Given the description of an element on the screen output the (x, y) to click on. 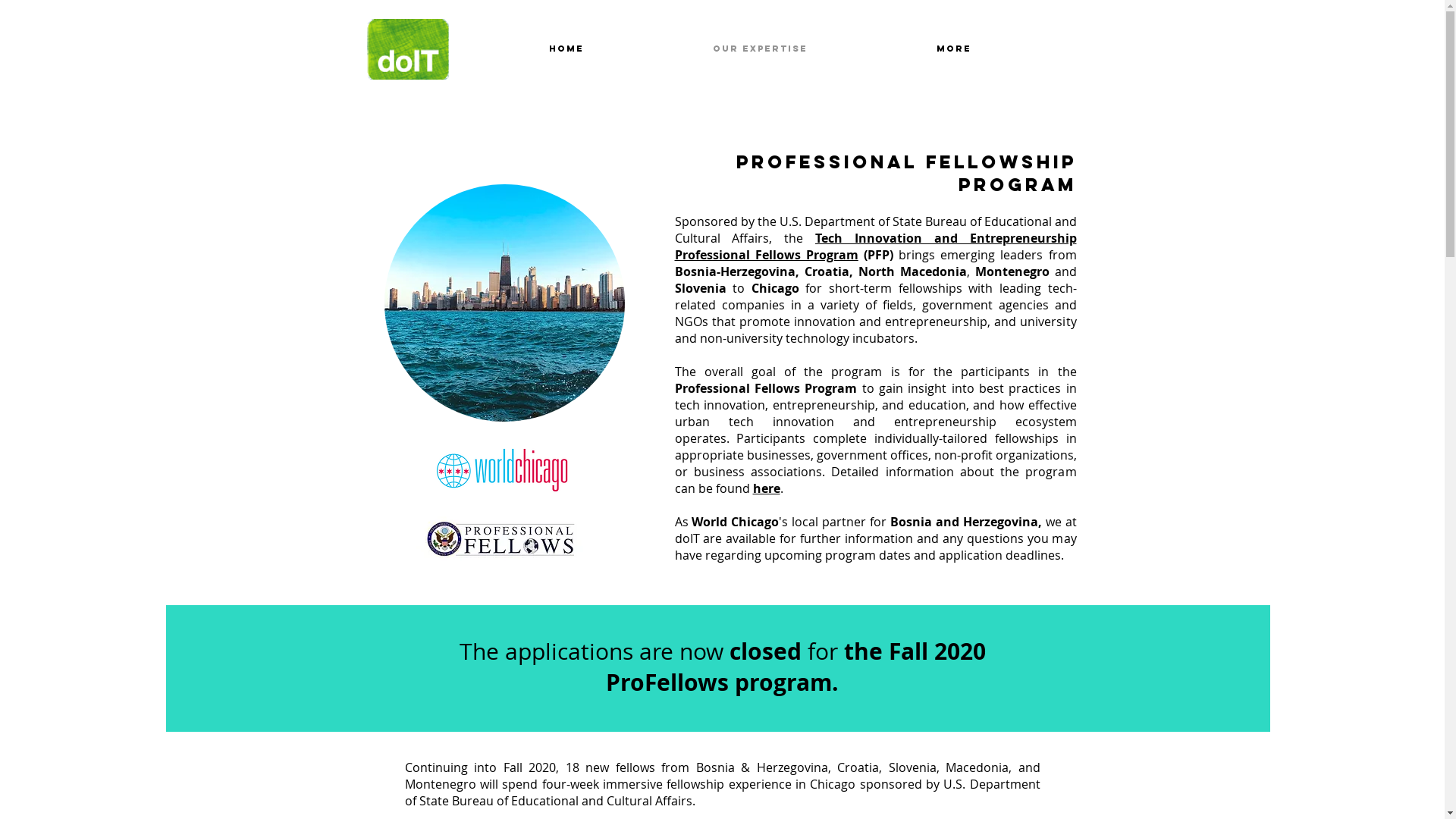
HOME Element type: text (565, 48)
OUR EXPERTISE Element type: text (759, 48)
here Element type: text (765, 488)
